Given the description of an element on the screen output the (x, y) to click on. 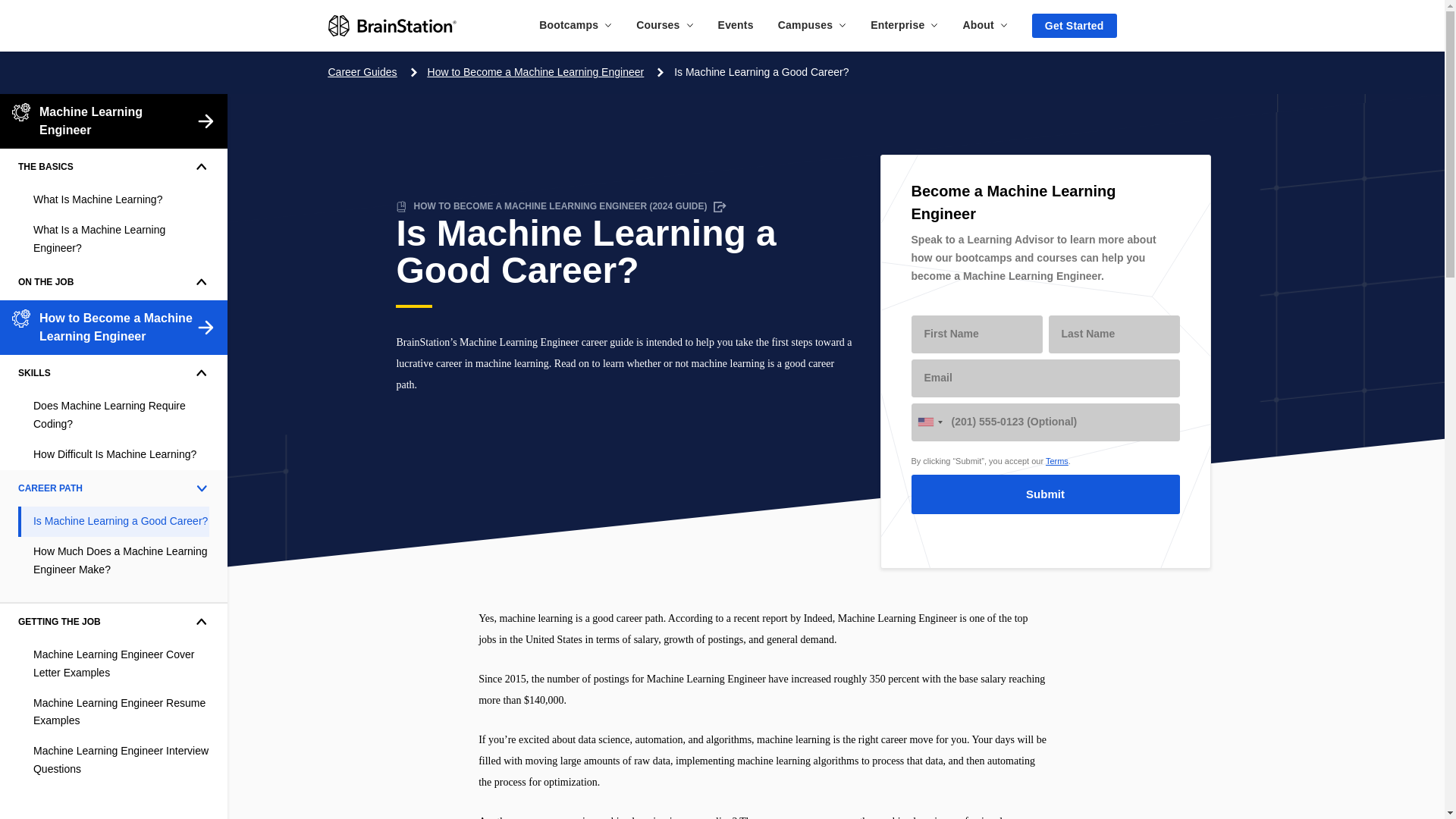
Courses (664, 24)
Campuses (811, 24)
Enterprise (903, 24)
Events (735, 24)
Bootcamps (574, 24)
